Given the description of an element on the screen output the (x, y) to click on. 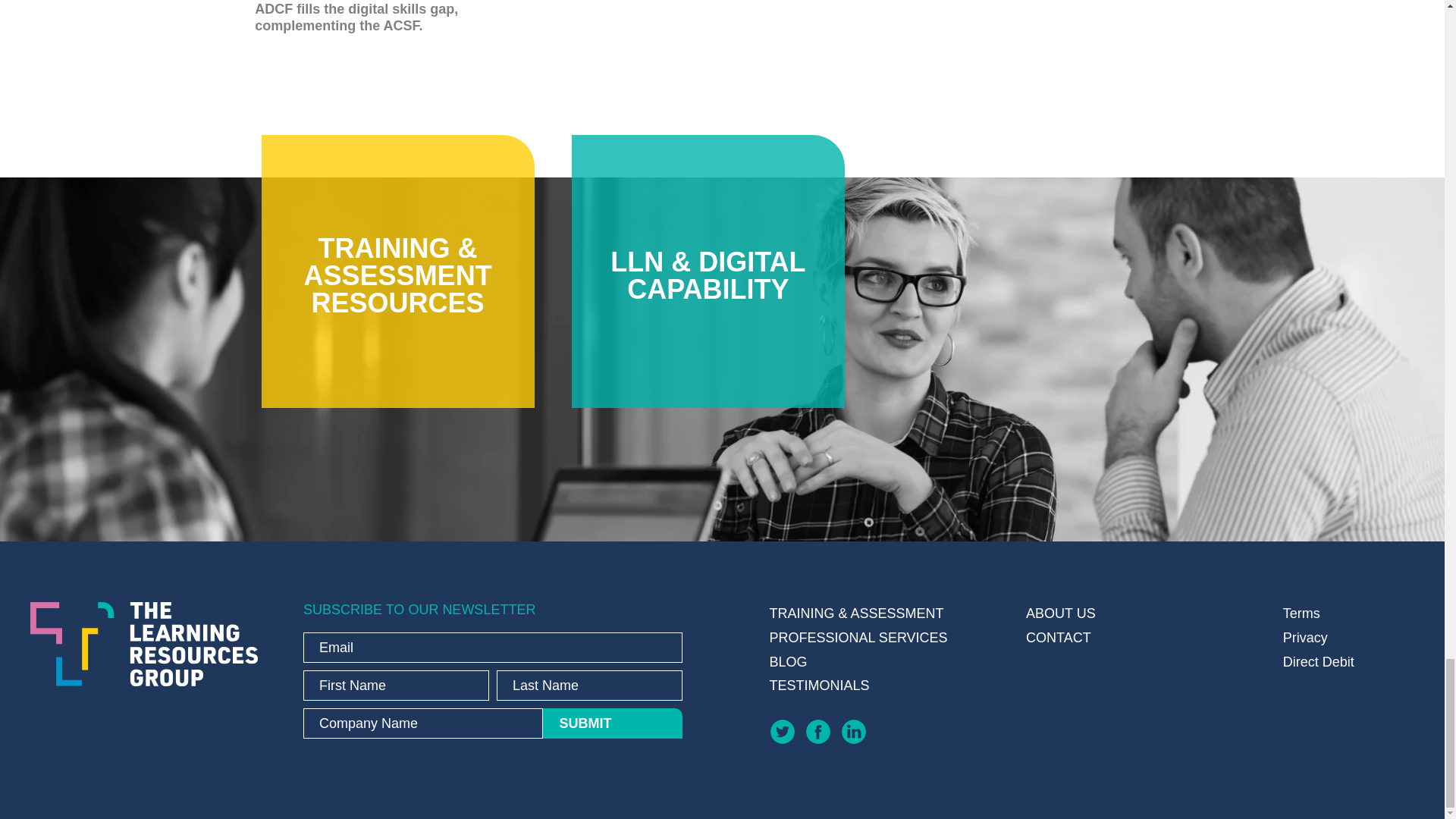
BLOG (894, 662)
ABOUT US (1150, 613)
Terms (1346, 613)
Submit (612, 723)
CONTACT (1150, 638)
TESTIMONIALS (894, 686)
Home page (143, 643)
PROFESSIONAL SERVICES (894, 638)
Direct Debit (1346, 662)
Submit (612, 723)
Privacy (1346, 638)
